Given the description of an element on the screen output the (x, y) to click on. 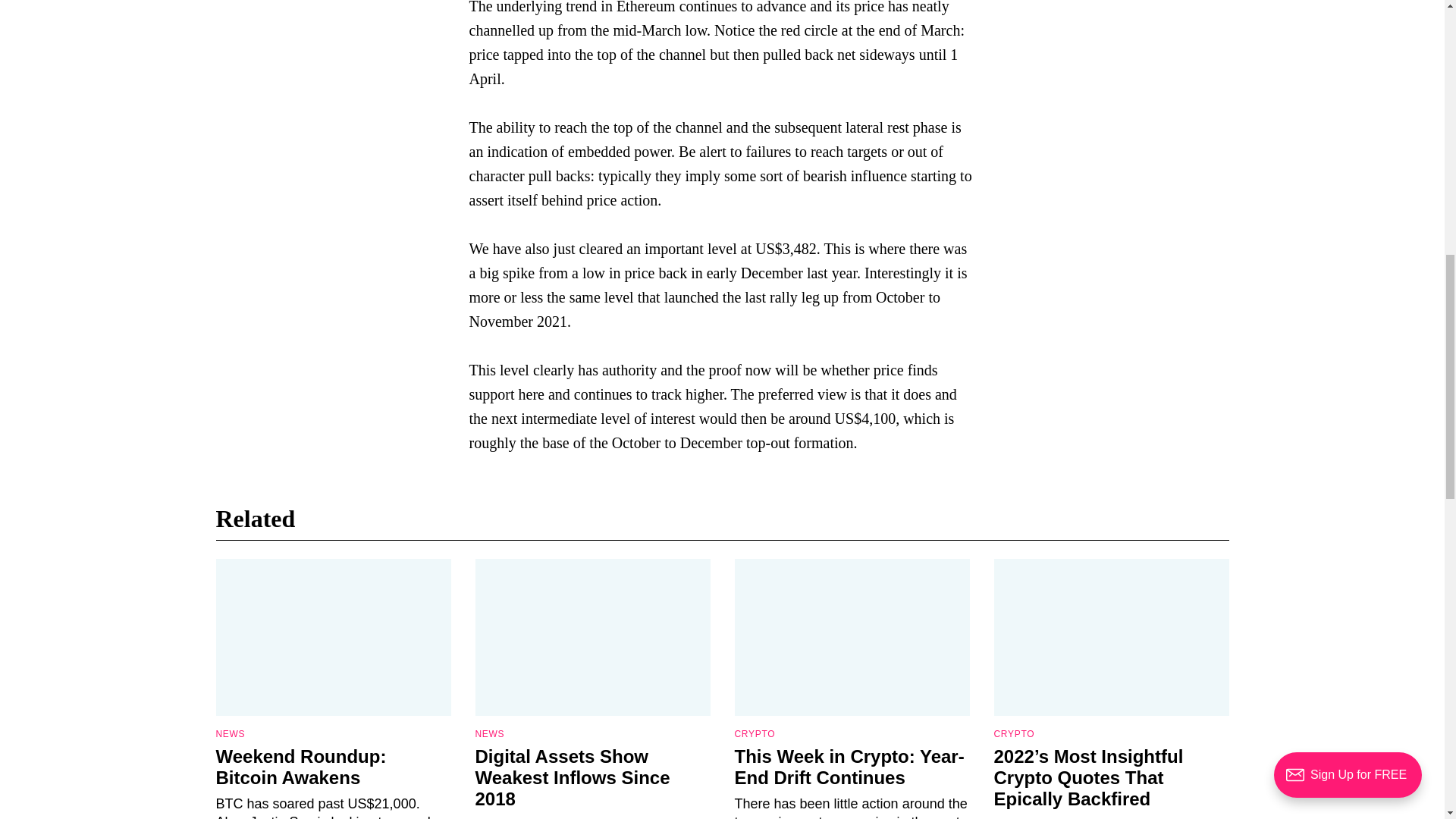
Weekend Roundup: Bitcoin Awakens (300, 766)
NEWS (488, 733)
Digital Assets Show Weakest Inflows Since 2018 (571, 777)
CRYPTO (1012, 733)
NEWS (229, 733)
CRYPTO (753, 733)
This Week in Crypto: Year-End Drift Continues (848, 766)
